Given the description of an element on the screen output the (x, y) to click on. 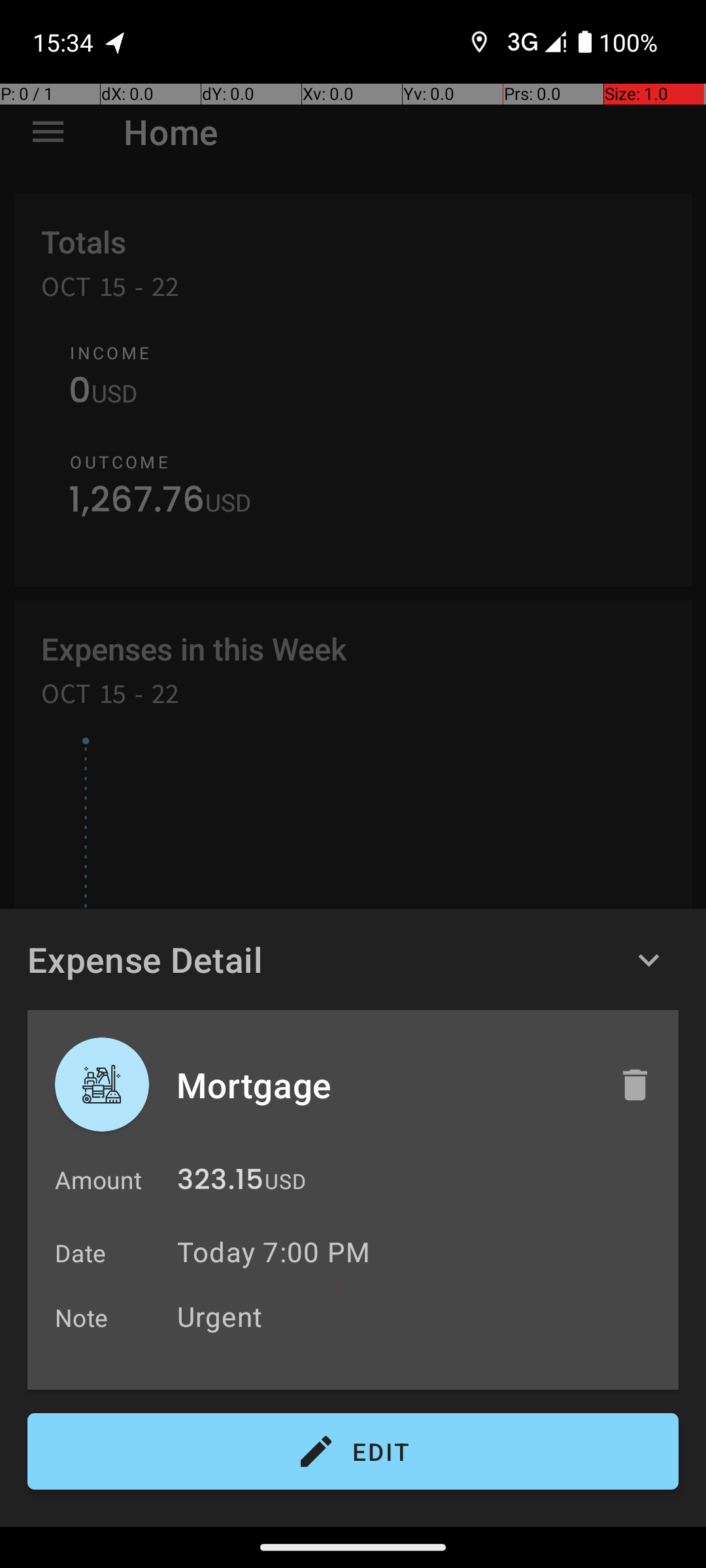
Mortgage Element type: android.widget.TextView (383, 1084)
323.15 Element type: android.widget.TextView (220, 1182)
Today 7:00 PM Element type: android.widget.TextView (273, 1251)
Urgent Element type: android.widget.TextView (420, 1315)
